Given the description of an element on the screen output the (x, y) to click on. 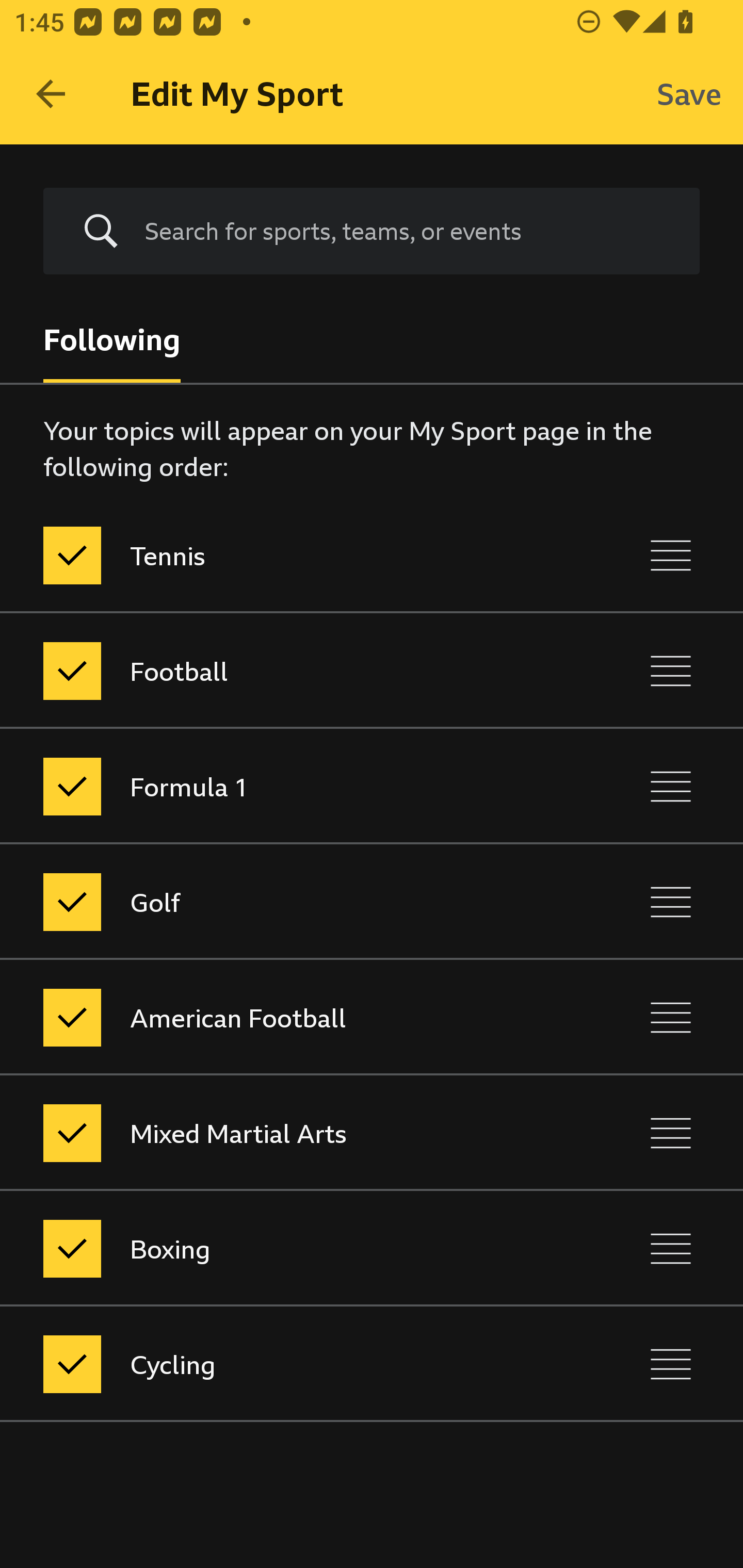
Navigate up (50, 93)
Save (689, 93)
Search for sports, teams, or events (371, 231)
Search for sports, teams, or events (407, 231)
Tennis (284, 555)
Reorder Tennis (670, 555)
Football (284, 671)
Reorder Football (670, 671)
Formula 1 (284, 786)
Reorder Formula 1 (670, 786)
Golf (284, 901)
Reorder Golf (670, 901)
American Football (284, 1017)
Reorder American Football (670, 1017)
Mixed Martial Arts (284, 1133)
Reorder Mixed Martial Arts (670, 1133)
Boxing (284, 1248)
Reorder Boxing (670, 1248)
Cycling (284, 1364)
Reorder Cycling (670, 1364)
